Given the description of an element on the screen output the (x, y) to click on. 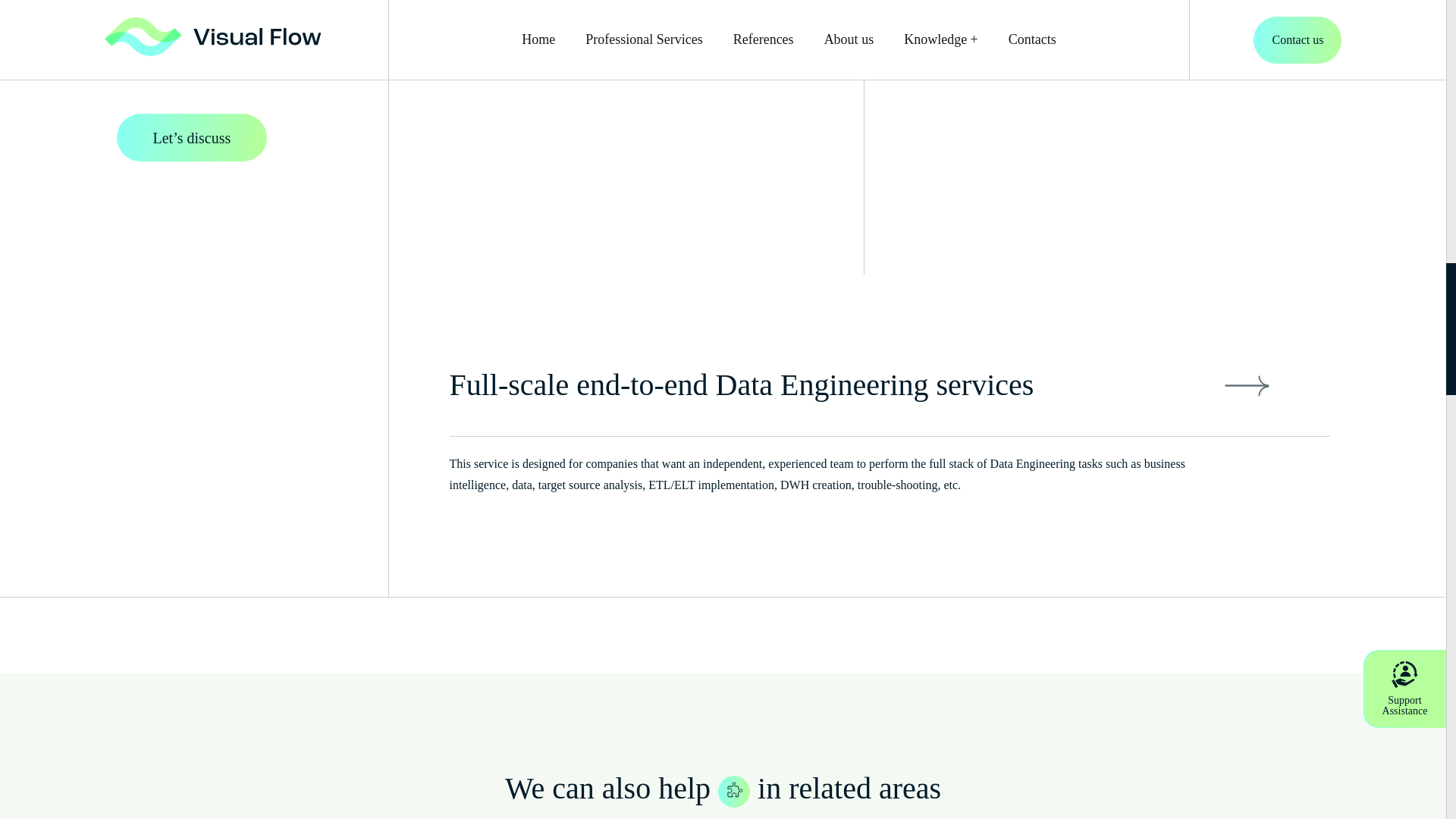
Full-scale end-to-end Data Engineering services (888, 400)
Visual Flow Professional Services - img-1 (733, 791)
